Given the description of an element on the screen output the (x, y) to click on. 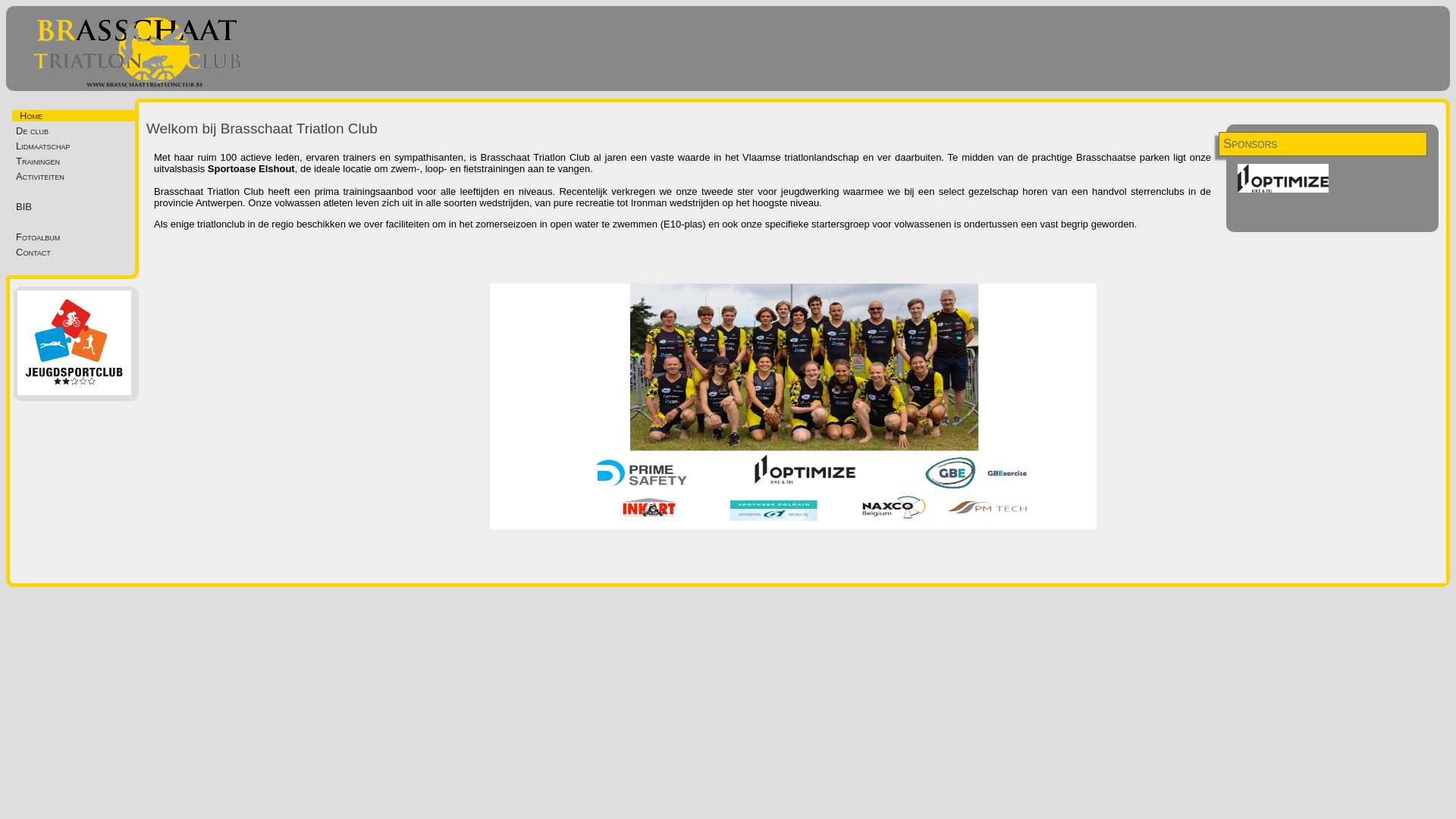
Home Element type: text (28, 115)
Contact Element type: text (77, 251)
BIB Element type: text (77, 206)
Sponsors Element type: text (1332, 143)
Trainingen Element type: text (77, 160)
Activiteiten Element type: text (77, 176)
Lidmaatschap Element type: text (77, 145)
Fotoalbum Element type: text (77, 236)
De club Element type: text (77, 130)
